Given the description of an element on the screen output the (x, y) to click on. 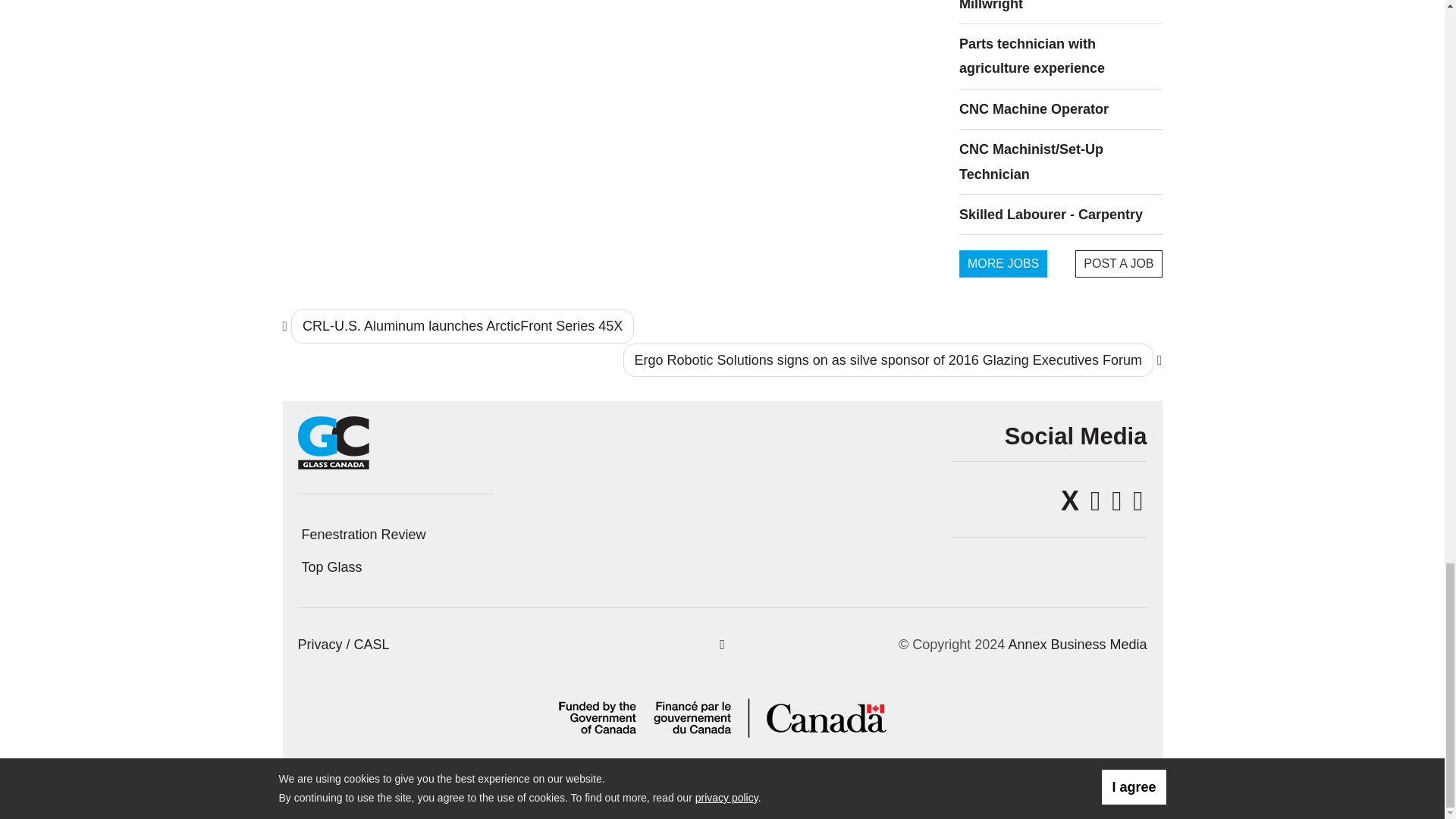
Annex Business Media (1077, 644)
Glass Canada (333, 441)
